Given the description of an element on the screen output the (x, y) to click on. 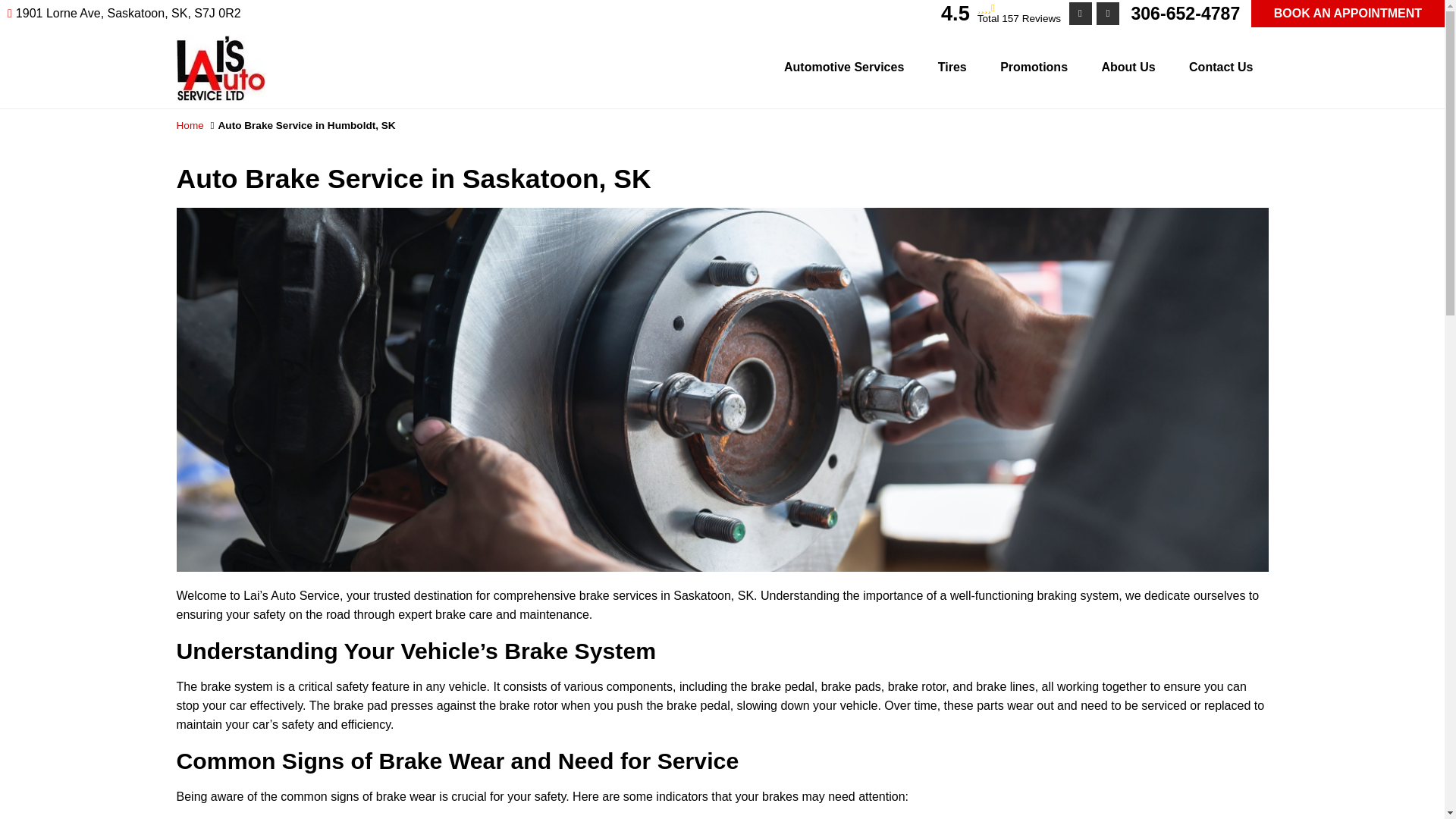
Tires (952, 67)
BOOK AN APPOINTMENT (1347, 13)
306-652-4787 (1185, 13)
Lai's Auto Service (220, 42)
Automotive Services (843, 67)
Go to Lai's Auto Service. (189, 125)
